Given the description of an element on the screen output the (x, y) to click on. 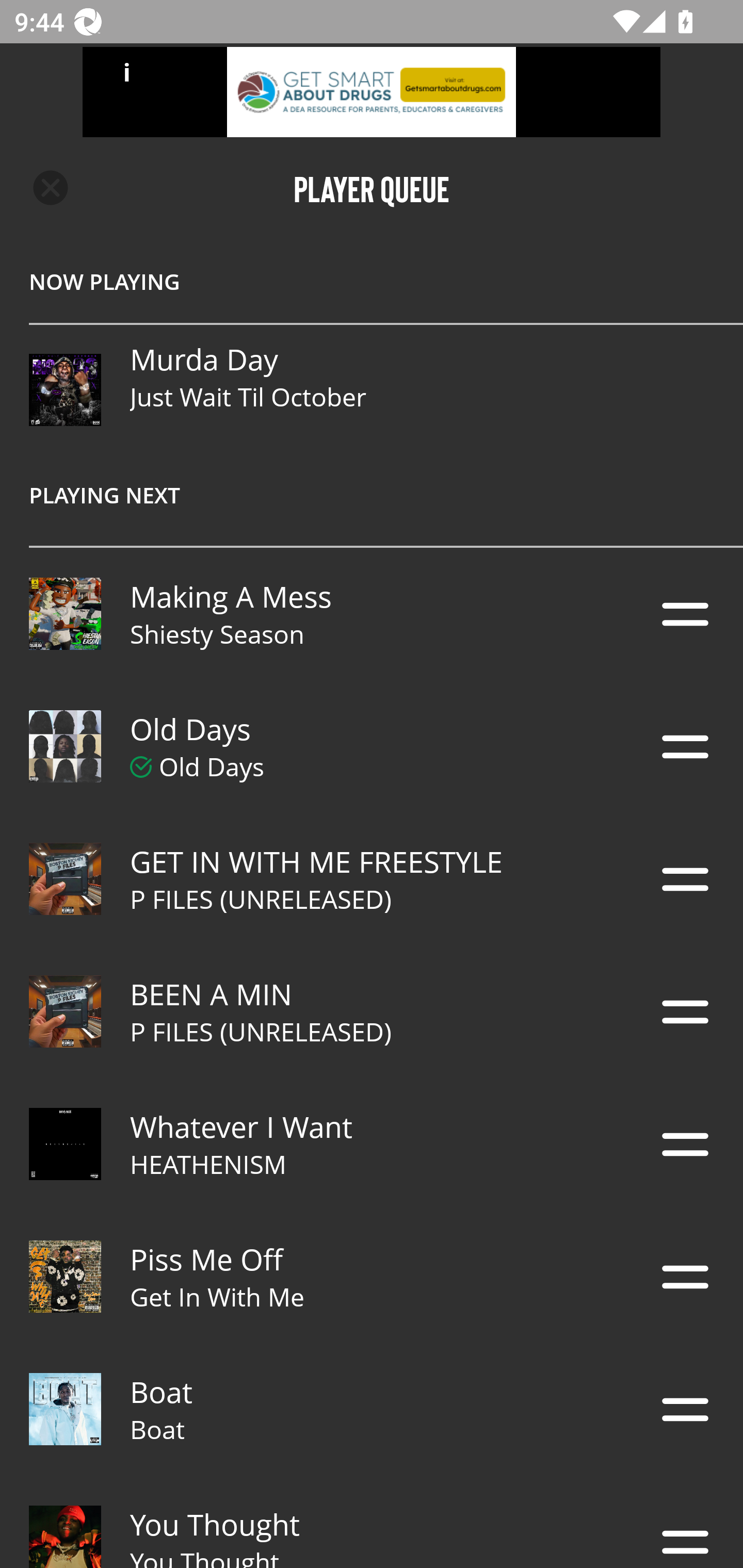
Navigate up (50, 187)
Description Whatever I Want HEATHENISM Description (371, 1144)
Description Piss Me Off Get In With Me Description (371, 1276)
Description Boat Boat Description (371, 1409)
Description You Thought You Thought Description (371, 1521)
